Given the description of an element on the screen output the (x, y) to click on. 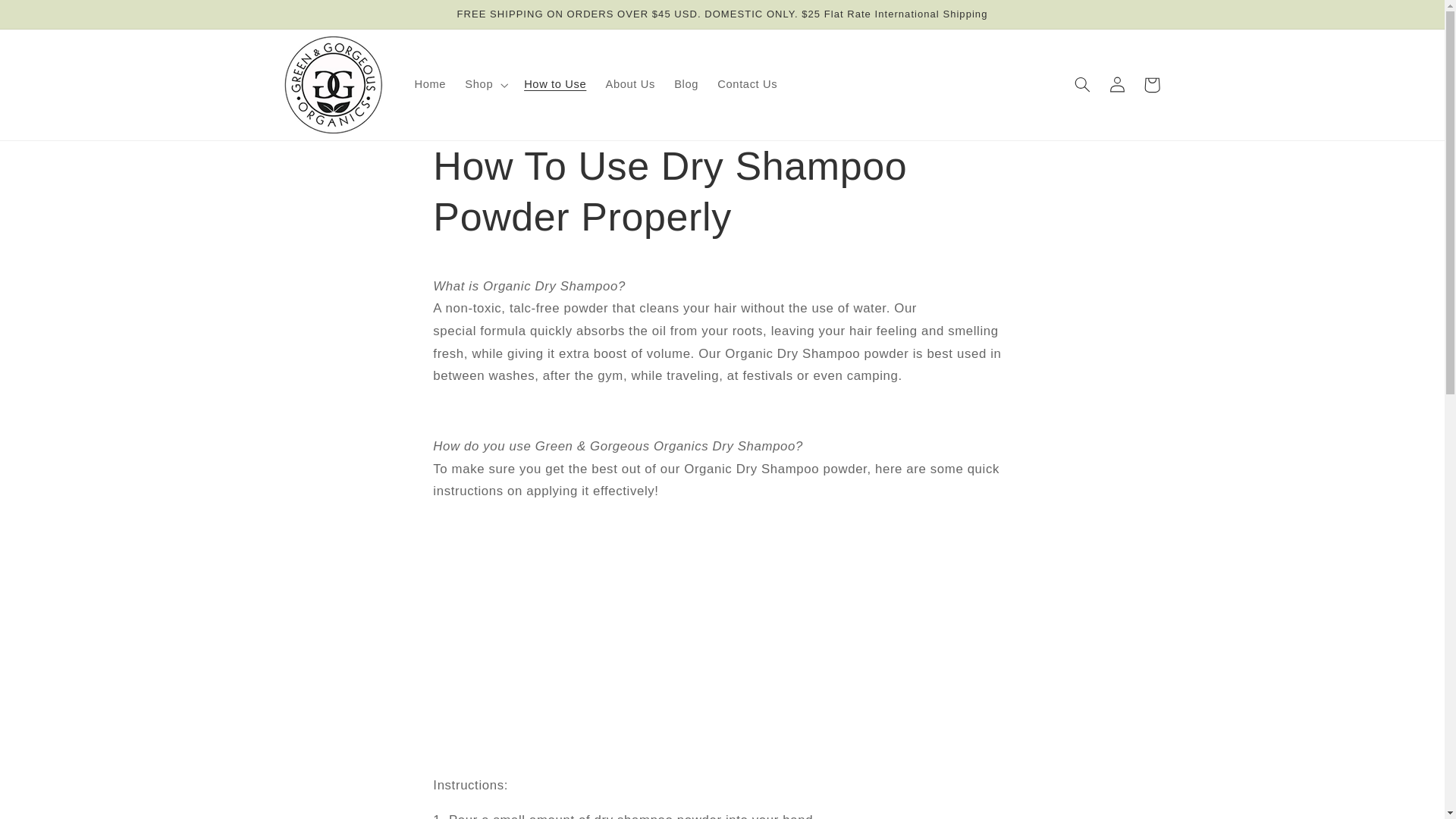
Contact Us (747, 84)
Cart (1151, 84)
Home (429, 84)
Blog (686, 84)
Skip to content (48, 18)
About Us (630, 84)
Log in (1116, 84)
How to Use (555, 84)
